Given the description of an element on the screen output the (x, y) to click on. 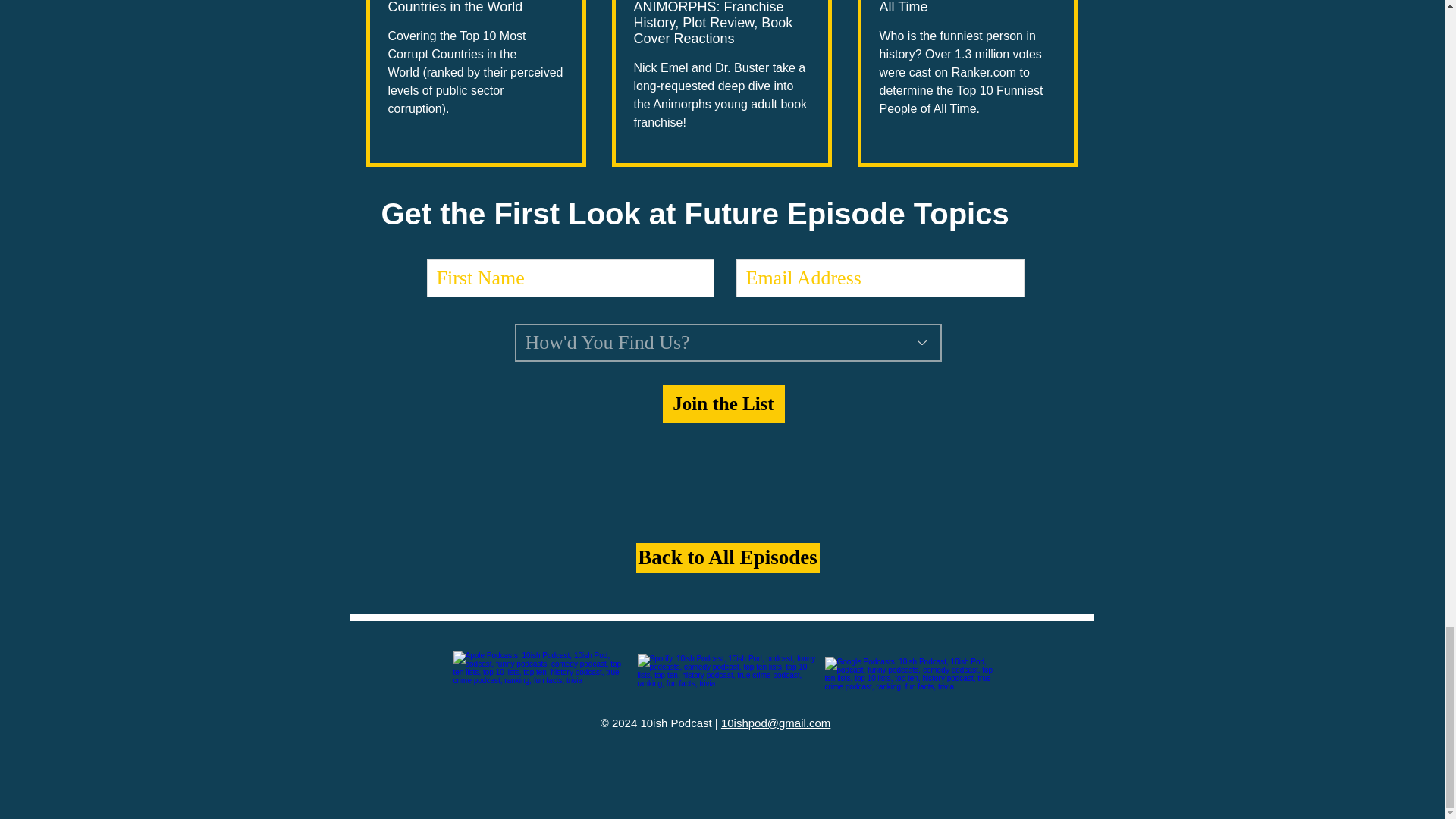
Ep. 273: Most Corrupt Countries in the World (476, 7)
Back to All Episodes (726, 557)
Ep. 272: Funniest People of All Time (967, 7)
Join the List (723, 403)
